Given the description of an element on the screen output the (x, y) to click on. 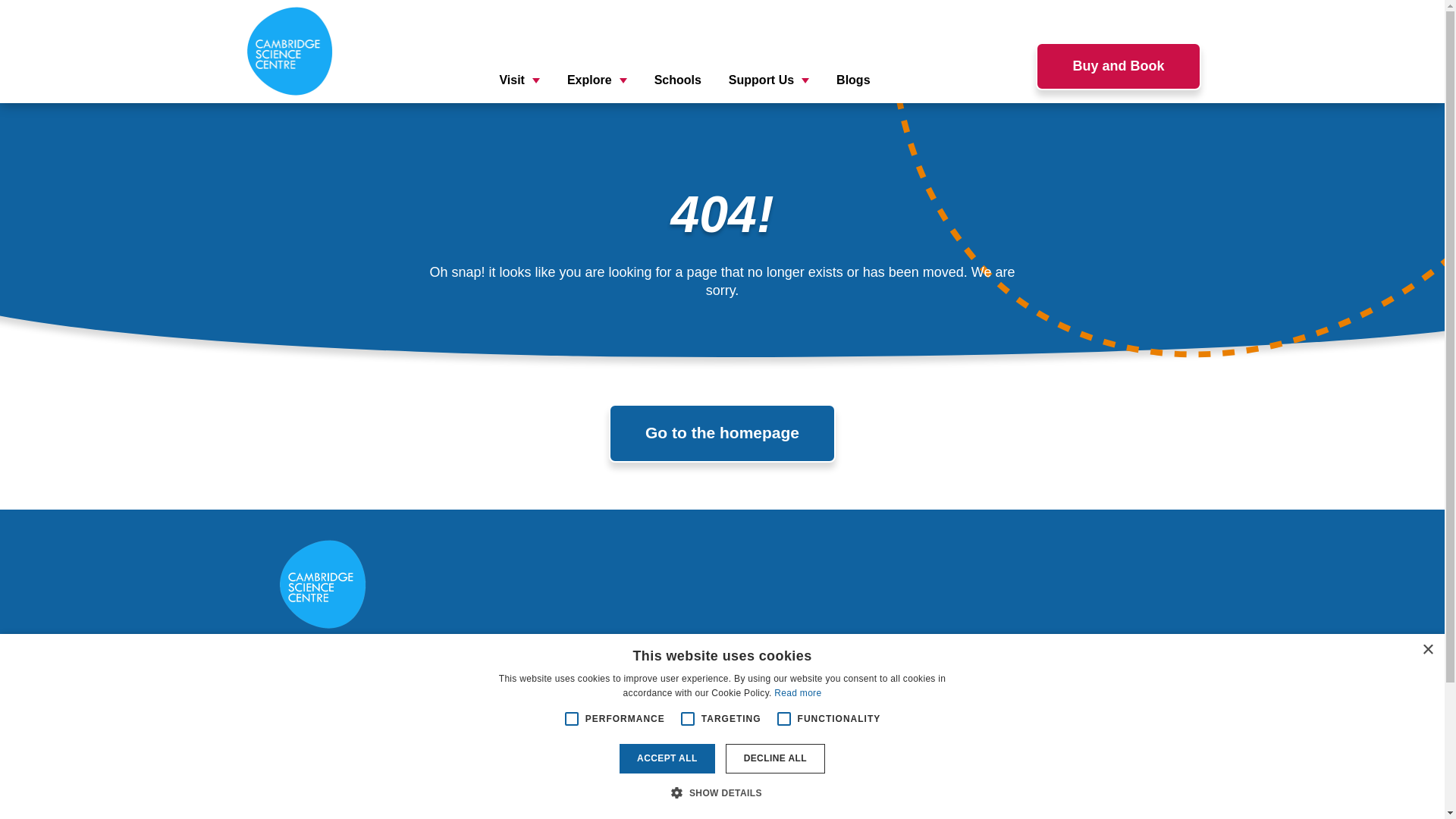
Buy and Book (1117, 66)
Support Us (769, 79)
Blogs (852, 79)
Explore (597, 79)
Explore (750, 727)
Visit (519, 79)
Visit (741, 697)
Schools (751, 757)
Schools (677, 79)
Go to the homepage (721, 432)
